Given the description of an element on the screen output the (x, y) to click on. 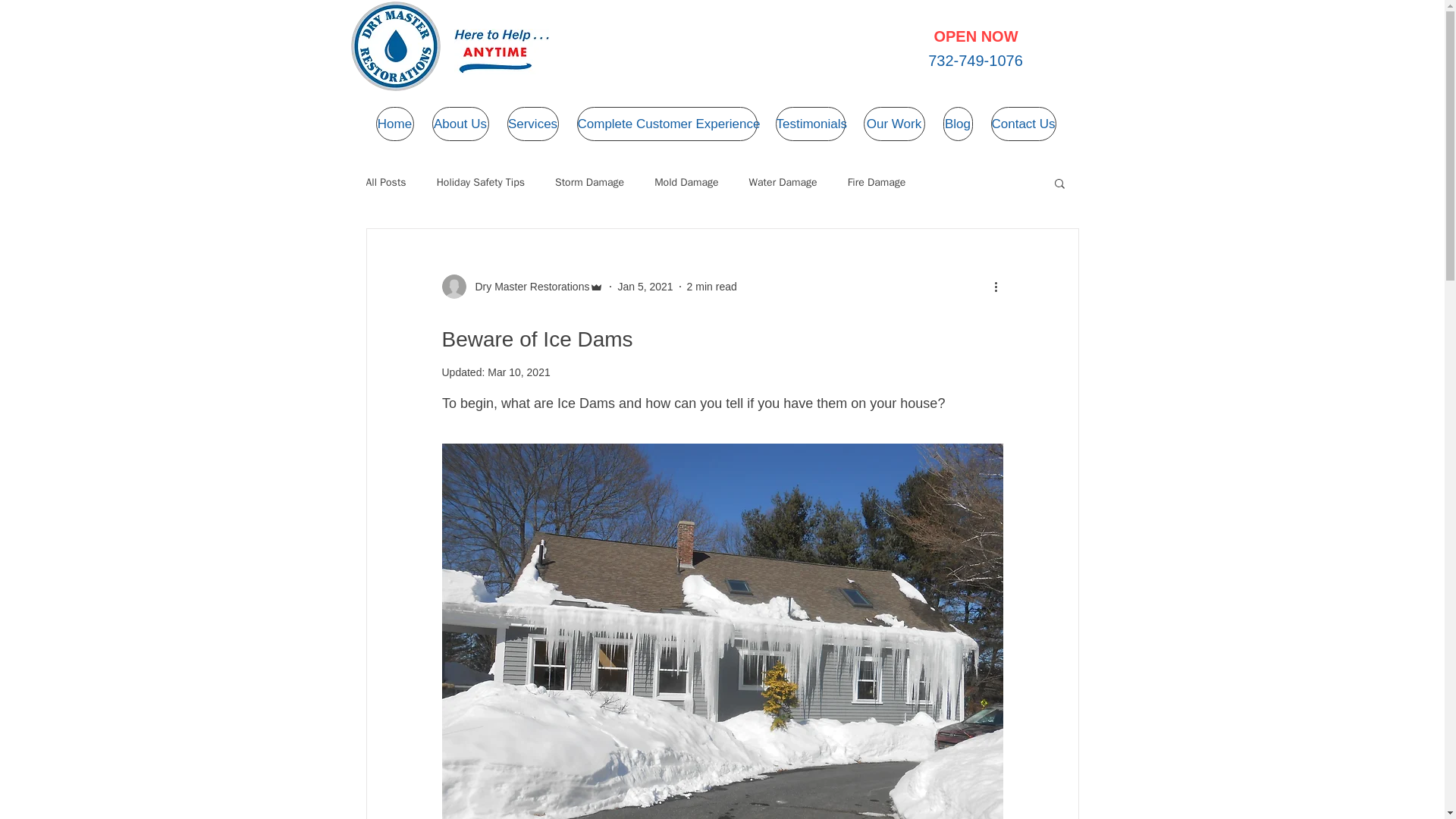
Mold Damage (685, 182)
All Posts (385, 182)
Dry Master Restorations (527, 286)
Dry Master Restorations (522, 286)
Holiday Safety Tips (480, 182)
Jan 5, 2021 (644, 286)
2 min read (711, 286)
Home (394, 123)
Storm Damage (589, 182)
Water Damage (782, 182)
Services (531, 123)
Testimonials (809, 123)
Mar 10, 2021 (518, 372)
Fire Damage (876, 182)
Contact Us (1022, 123)
